Given the description of an element on the screen output the (x, y) to click on. 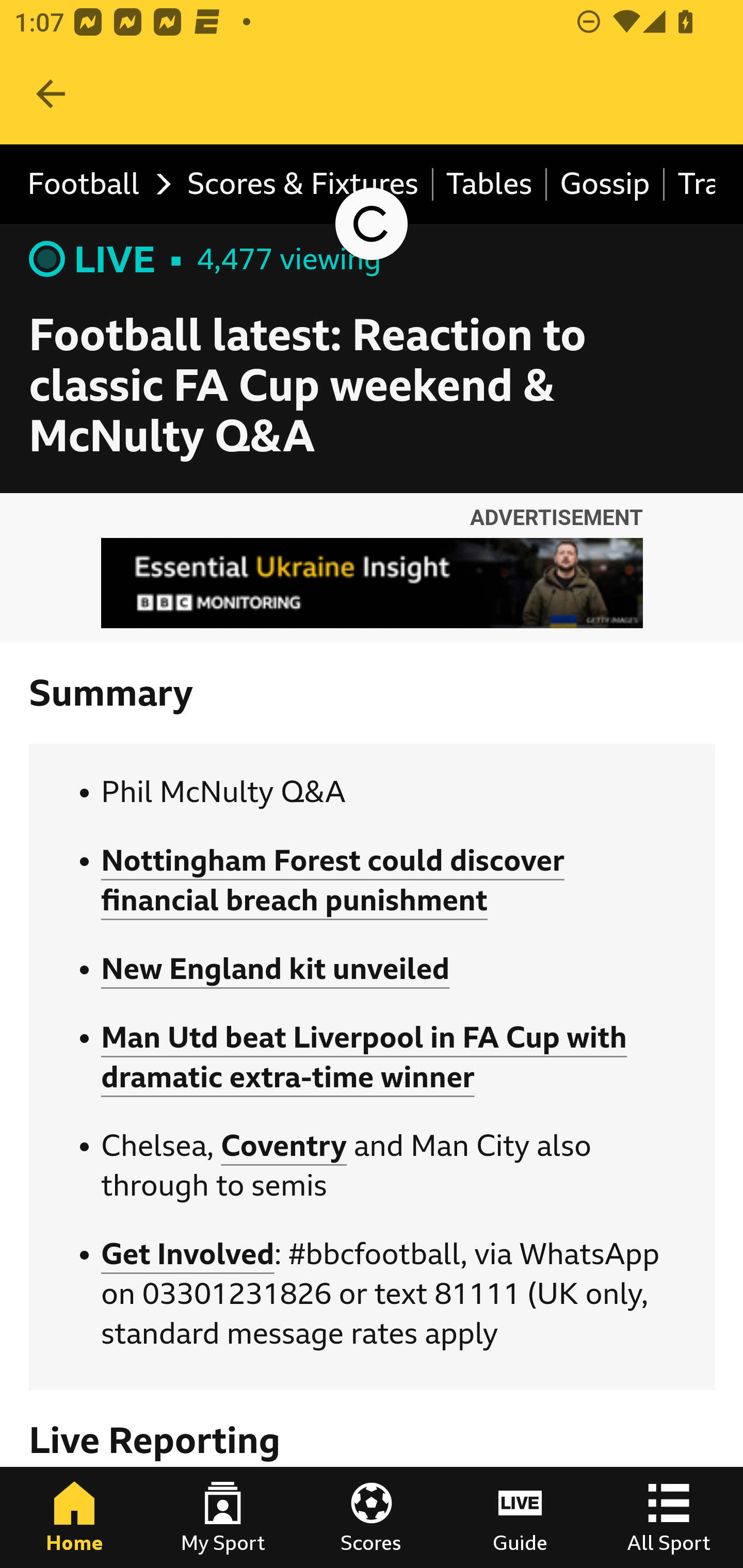
Navigate up (50, 93)
Football (94, 184)
Scores & Fixtures (303, 184)
Tables (490, 184)
Gossip (605, 184)
New England kit unveiled (276, 969)
Coventry (284, 1145)
Get Involved (187, 1254)
My Sport (222, 1517)
Scores (371, 1517)
Guide (519, 1517)
All Sport (668, 1517)
